Given the description of an element on the screen output the (x, y) to click on. 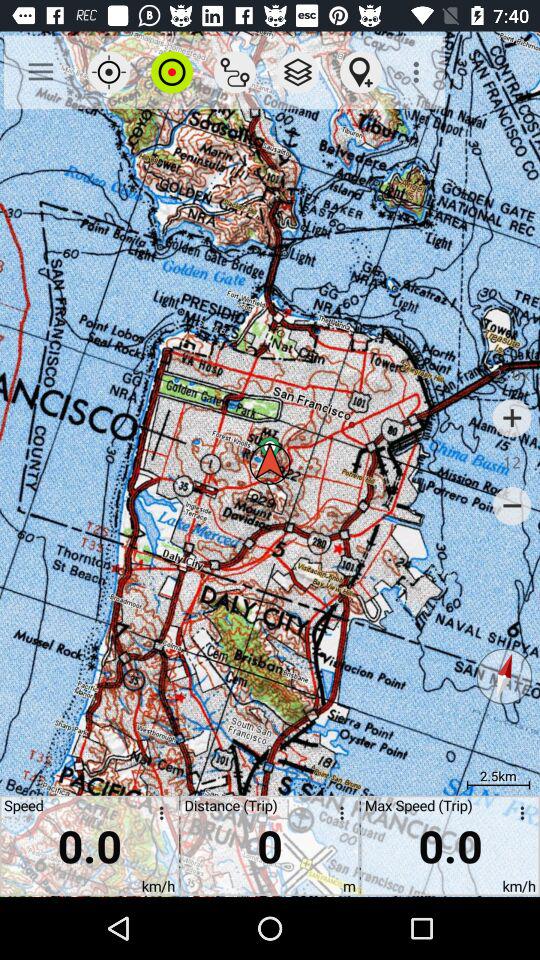
press icon above 12 item (512, 418)
